Given the description of an element on the screen output the (x, y) to click on. 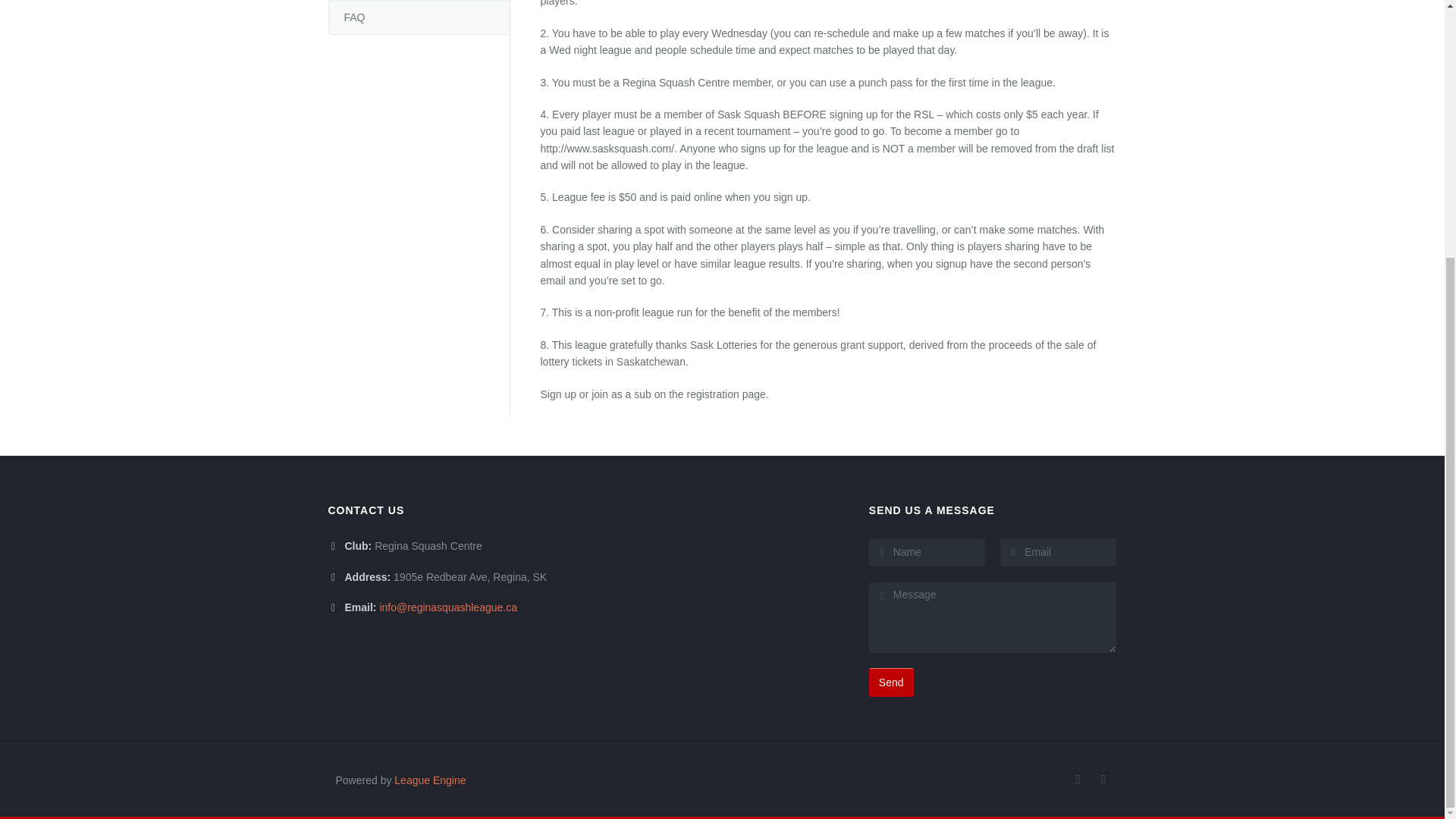
Send (891, 682)
FAQ (418, 17)
League Engine (429, 780)
Send (891, 682)
